Given the description of an element on the screen output the (x, y) to click on. 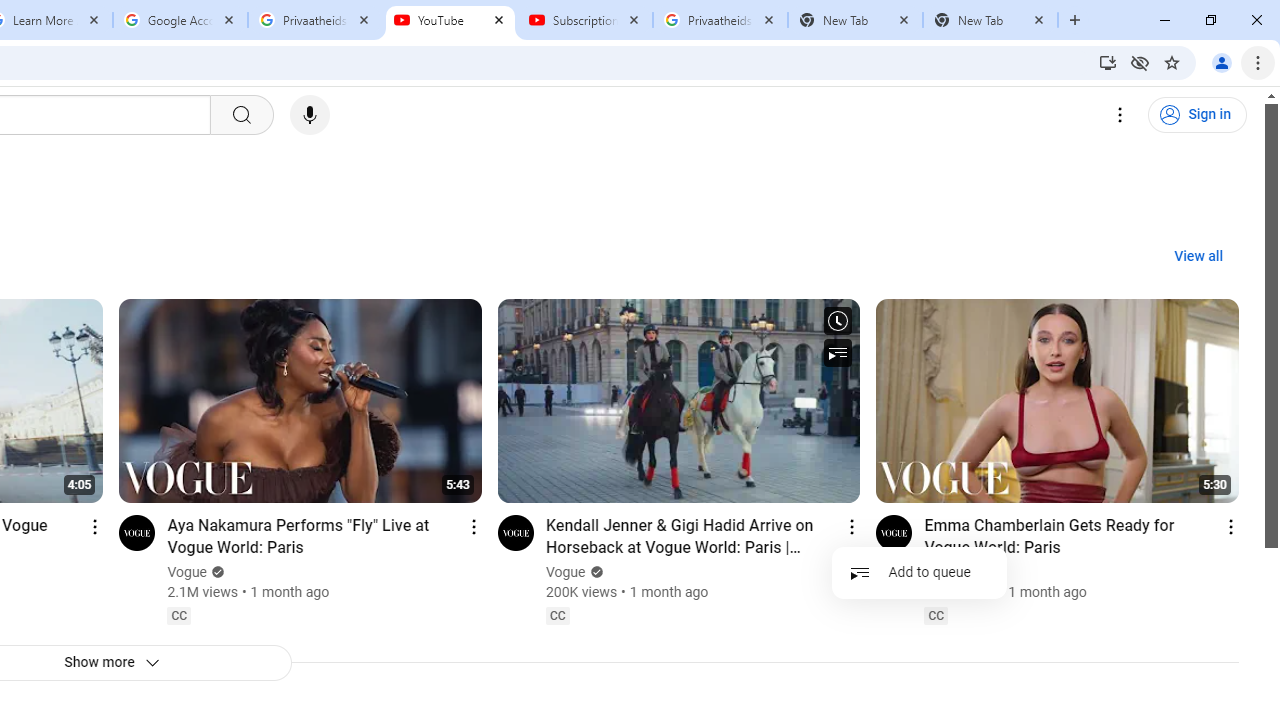
Add to queue (919, 572)
Search (240, 115)
Vogue (945, 572)
Closed captions (936, 615)
Action menu (1229, 526)
Go to channel (893, 532)
Google Account (180, 20)
Subscriptions - YouTube (585, 20)
New Tab (990, 20)
